Given the description of an element on the screen output the (x, y) to click on. 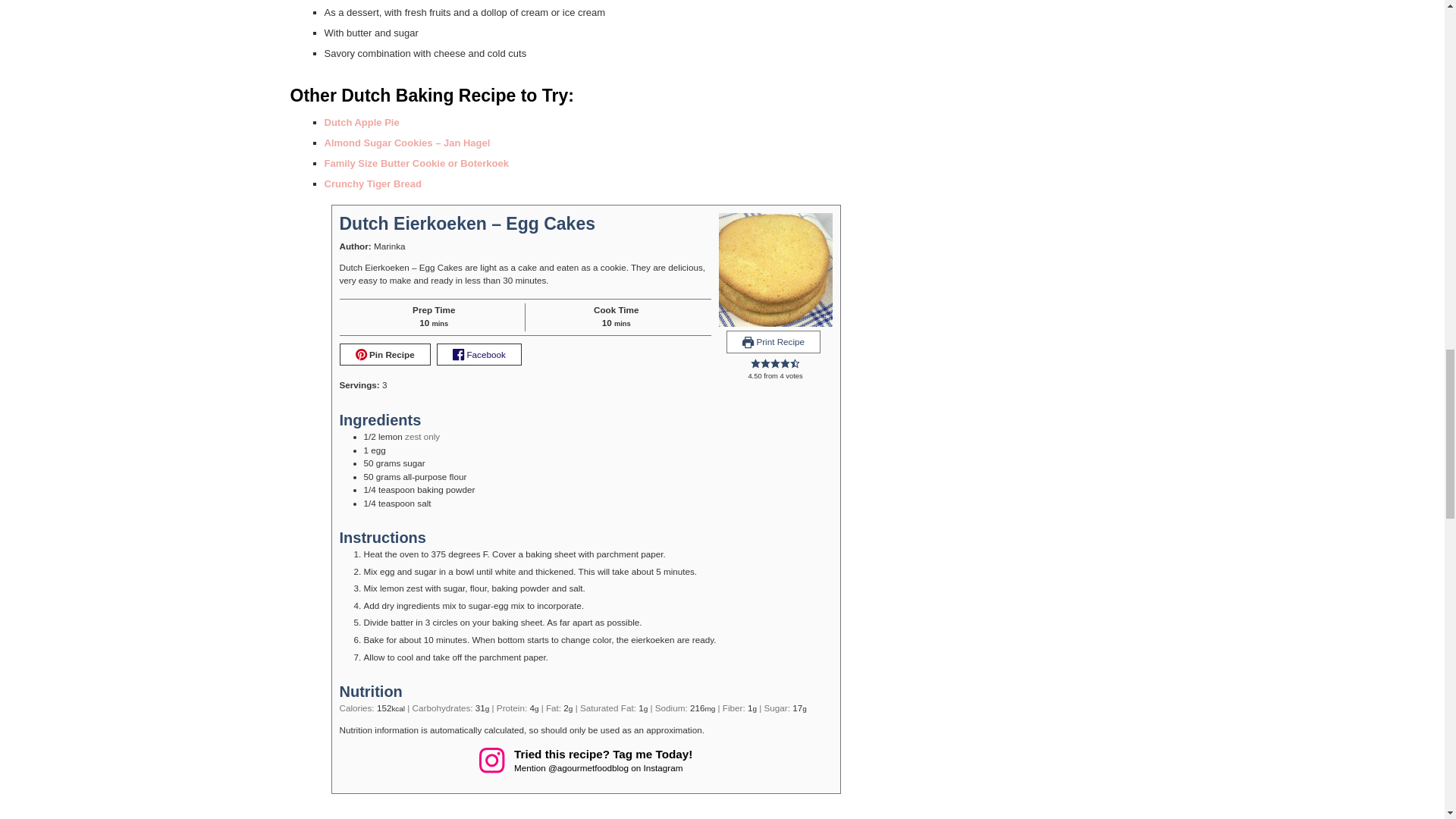
Crunchy Tiger Bread (373, 183)
Dutch Apple Pie (361, 122)
Family Size Butter Cookie or Boterkoek (416, 163)
